Given the description of an element on the screen output the (x, y) to click on. 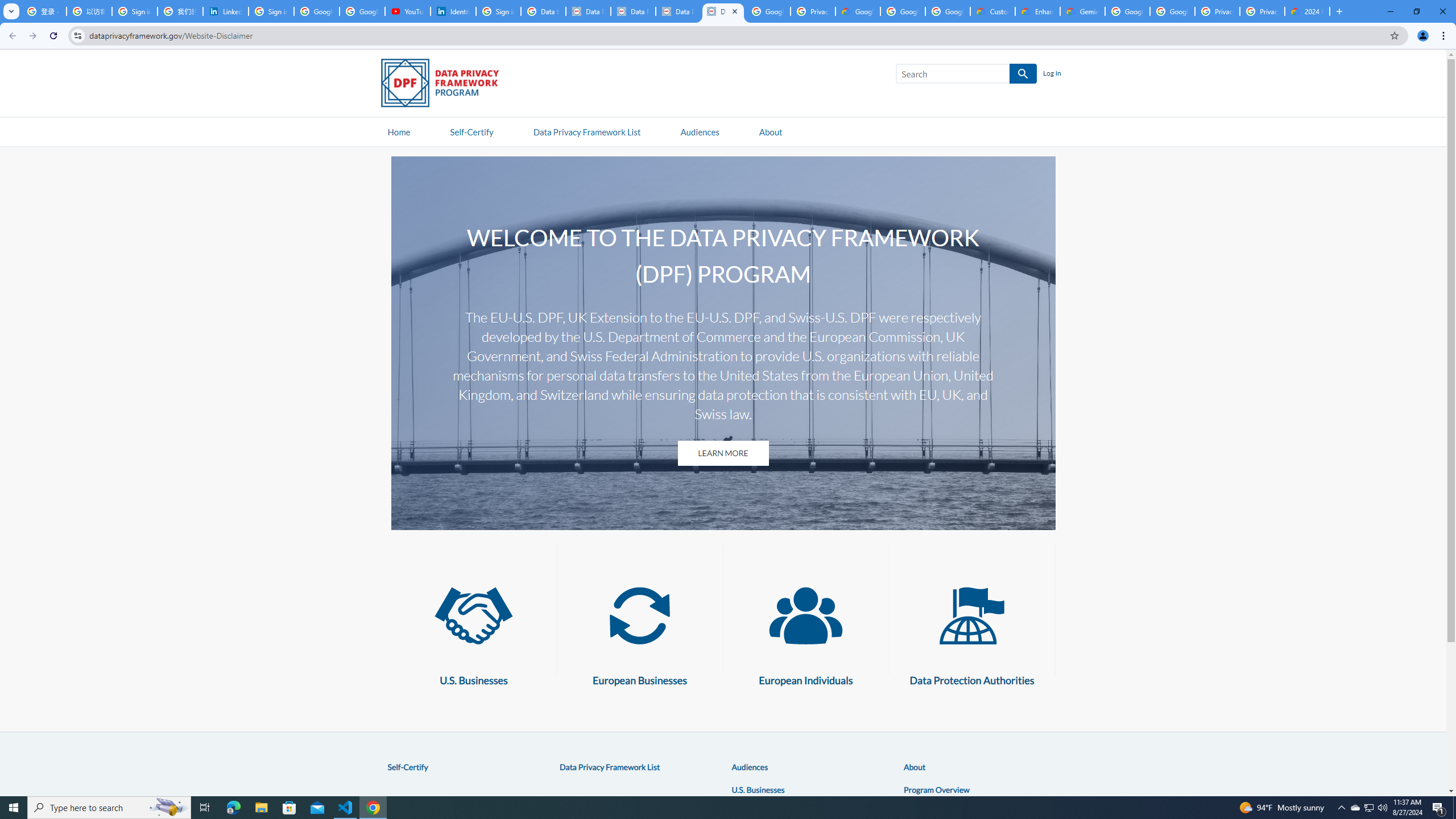
Data Protection Authorities (971, 615)
Sign in - Google Accounts (497, 11)
Audiences (749, 766)
AutomationID: navitem (699, 131)
U.S. Businesses (757, 789)
Google Cloud Platform (1171, 11)
European Individuals (805, 615)
Google Cloud Terms Directory | Google Cloud (857, 11)
Log In (1051, 73)
